Given the description of an element on the screen output the (x, y) to click on. 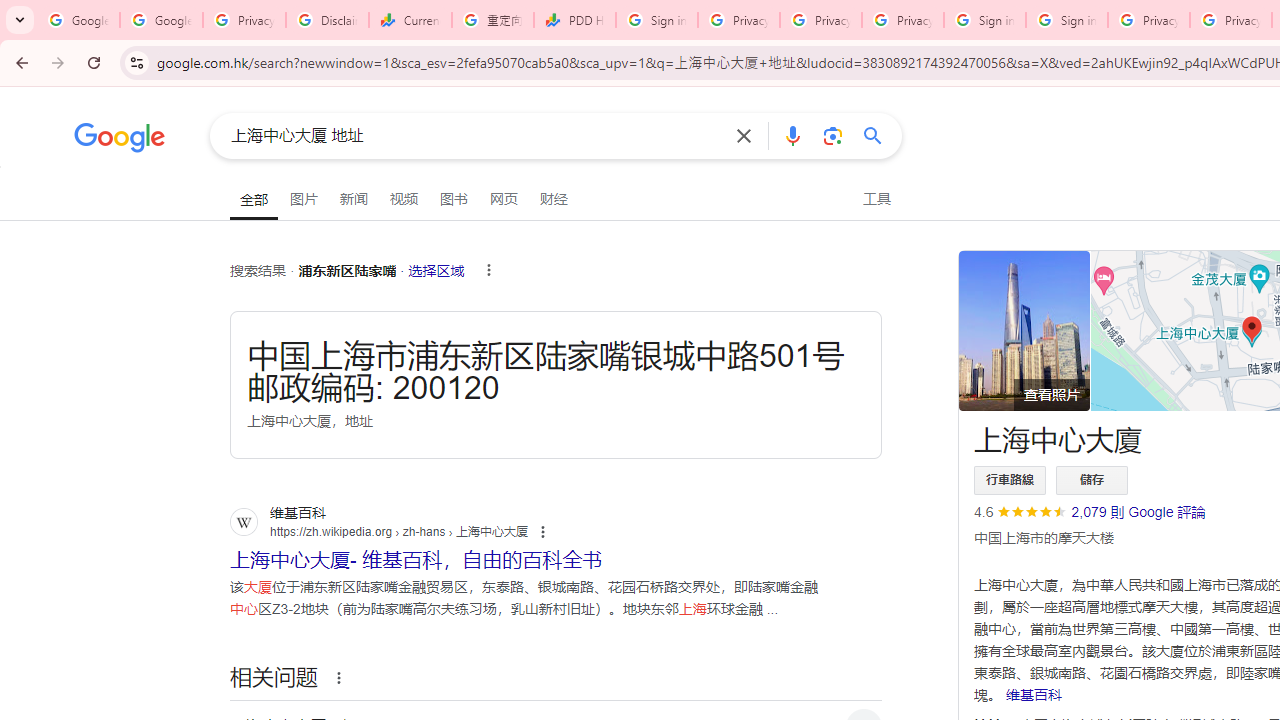
Sign in - Google Accounts (984, 20)
